Given the description of an element on the screen output the (x, y) to click on. 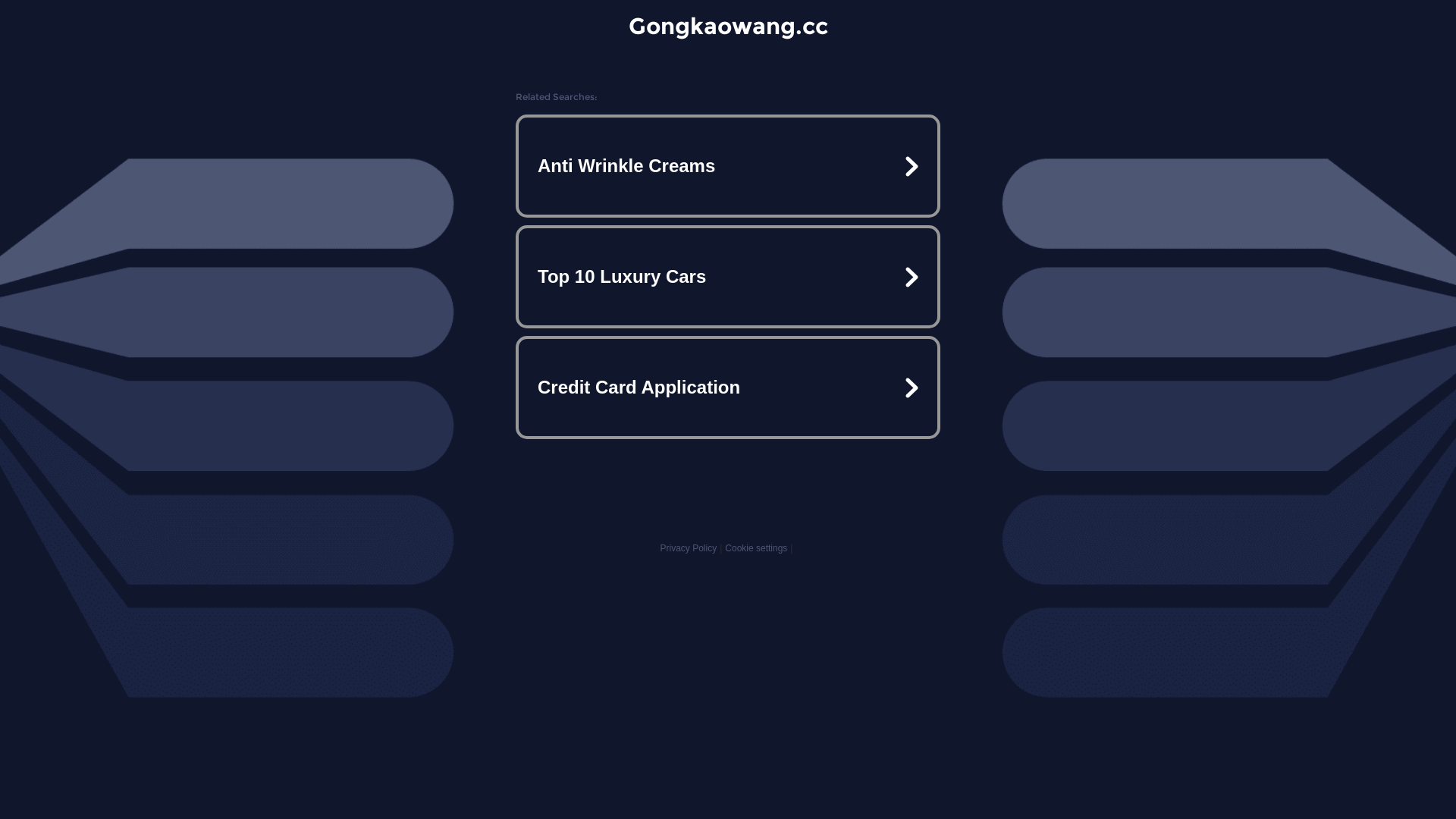
Top 10 Luxury Cars Element type: text (727, 276)
Anti Wrinkle Creams Element type: text (727, 165)
Credit Card Application Element type: text (727, 387)
Cookie settings Element type: text (755, 547)
Privacy Policy Element type: text (687, 547)
Gongkaowang.cc Element type: text (727, 26)
